Given the description of an element on the screen output the (x, y) to click on. 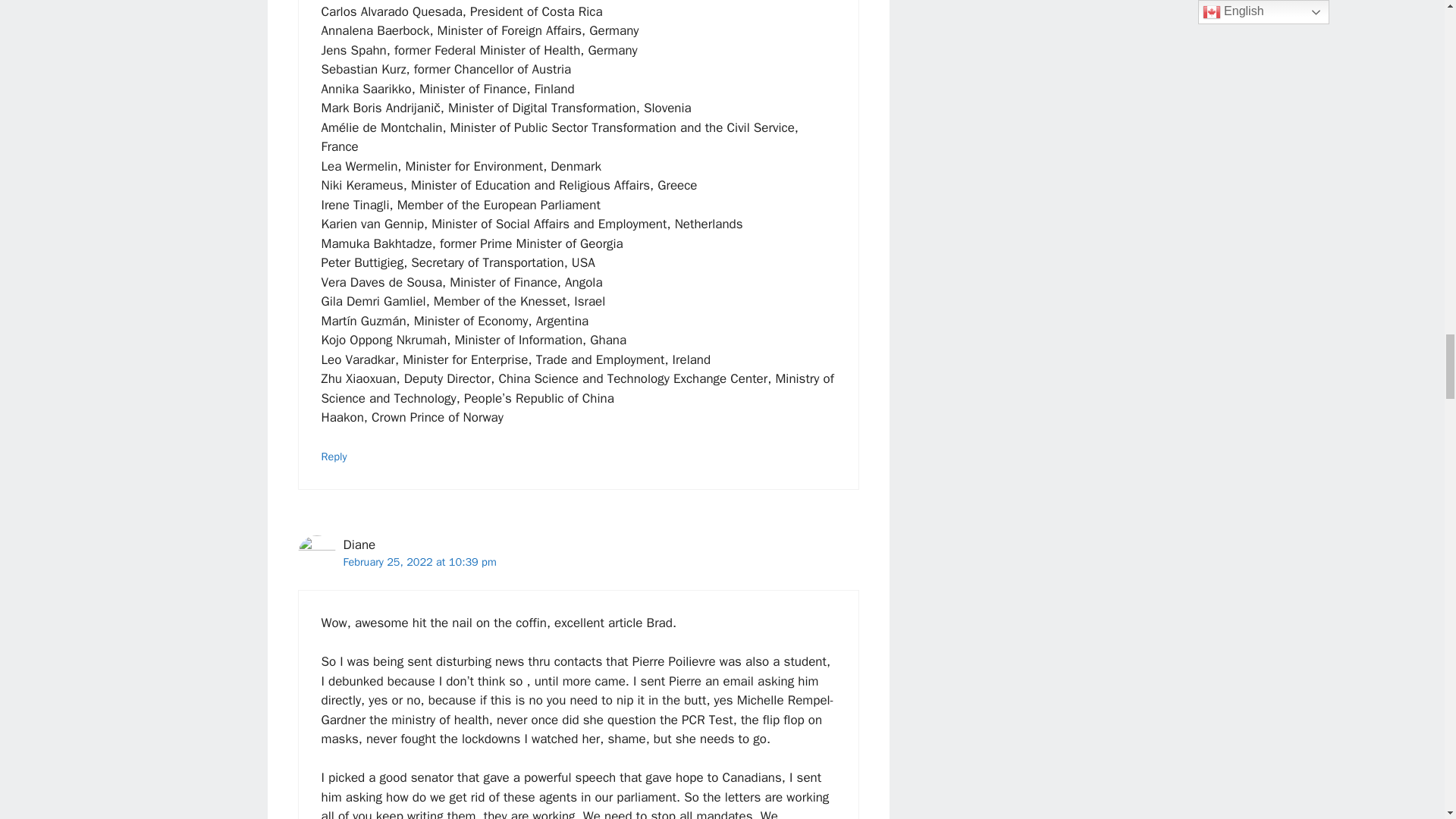
February 25, 2022 at 10:39 pm (419, 561)
Reply (334, 456)
